Given the description of an element on the screen output the (x, y) to click on. 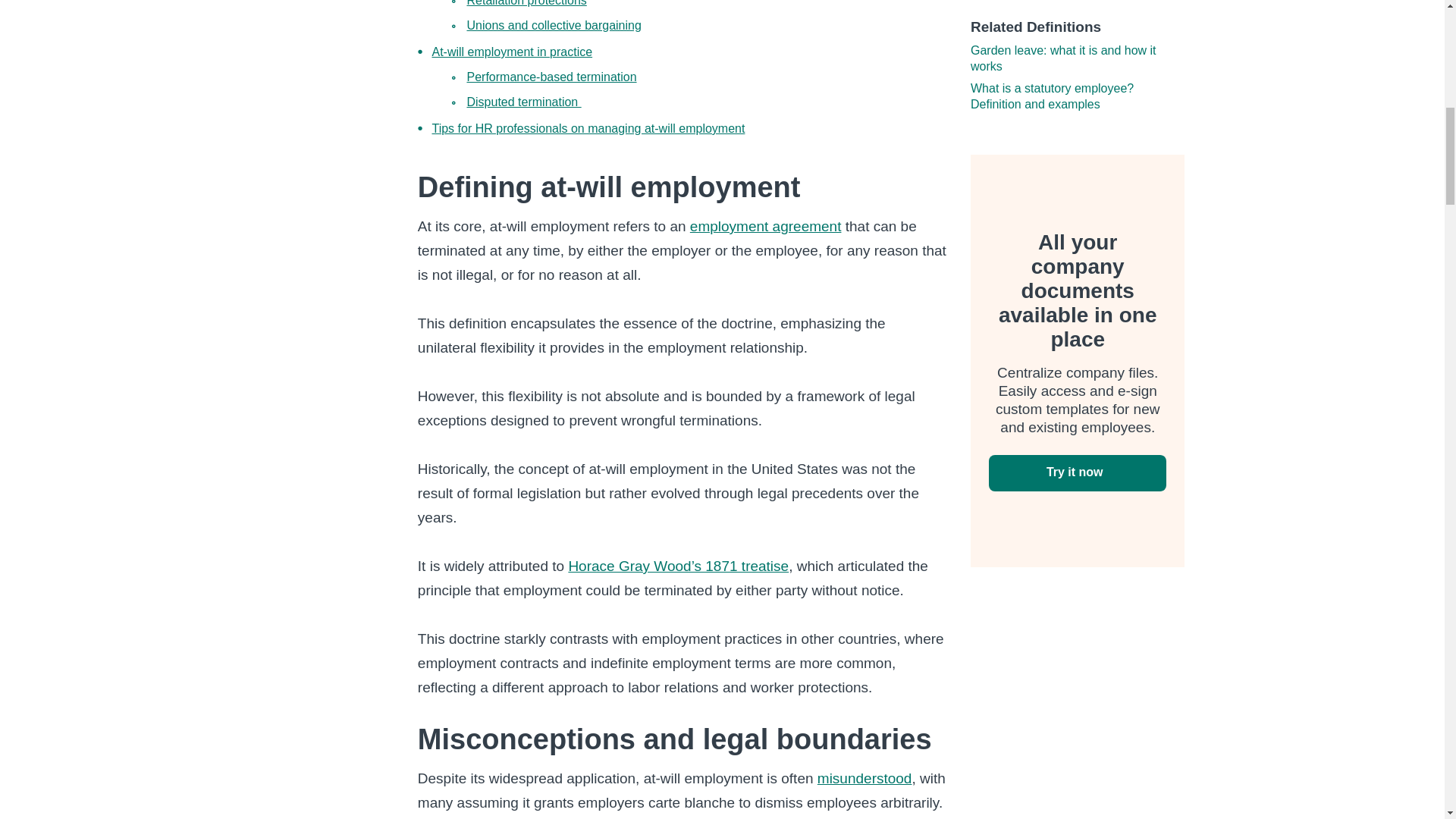
Tips for HR professionals on managing at-will employment (587, 128)
Unions and collective bargaining (552, 24)
Performance-based termination (550, 76)
Retaliation protections (525, 3)
At-will employment in practice (511, 51)
